Given the description of an element on the screen output the (x, y) to click on. 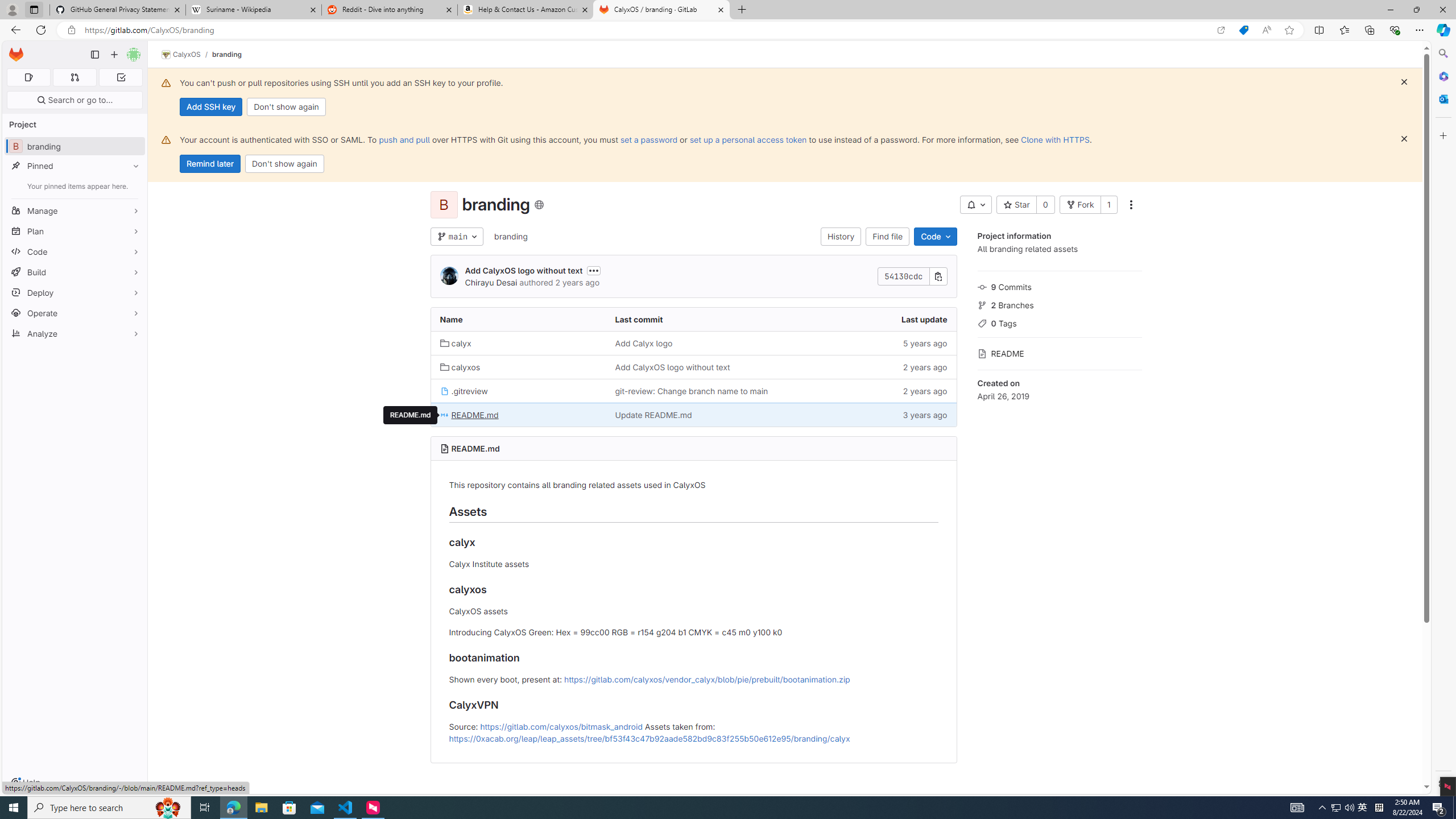
push and pull (403, 139)
AutomationID: __BVID__301__BV_toggle_ (975, 204)
Deploy (74, 292)
branding (510, 235)
Analyze (74, 333)
Last update (868, 319)
GitHub General Privacy Statement - GitHub Docs (117, 9)
9 Commits (1058, 286)
CalyxOS/ (186, 54)
Add SSH key (211, 106)
Plan (74, 230)
